Given the description of an element on the screen output the (x, y) to click on. 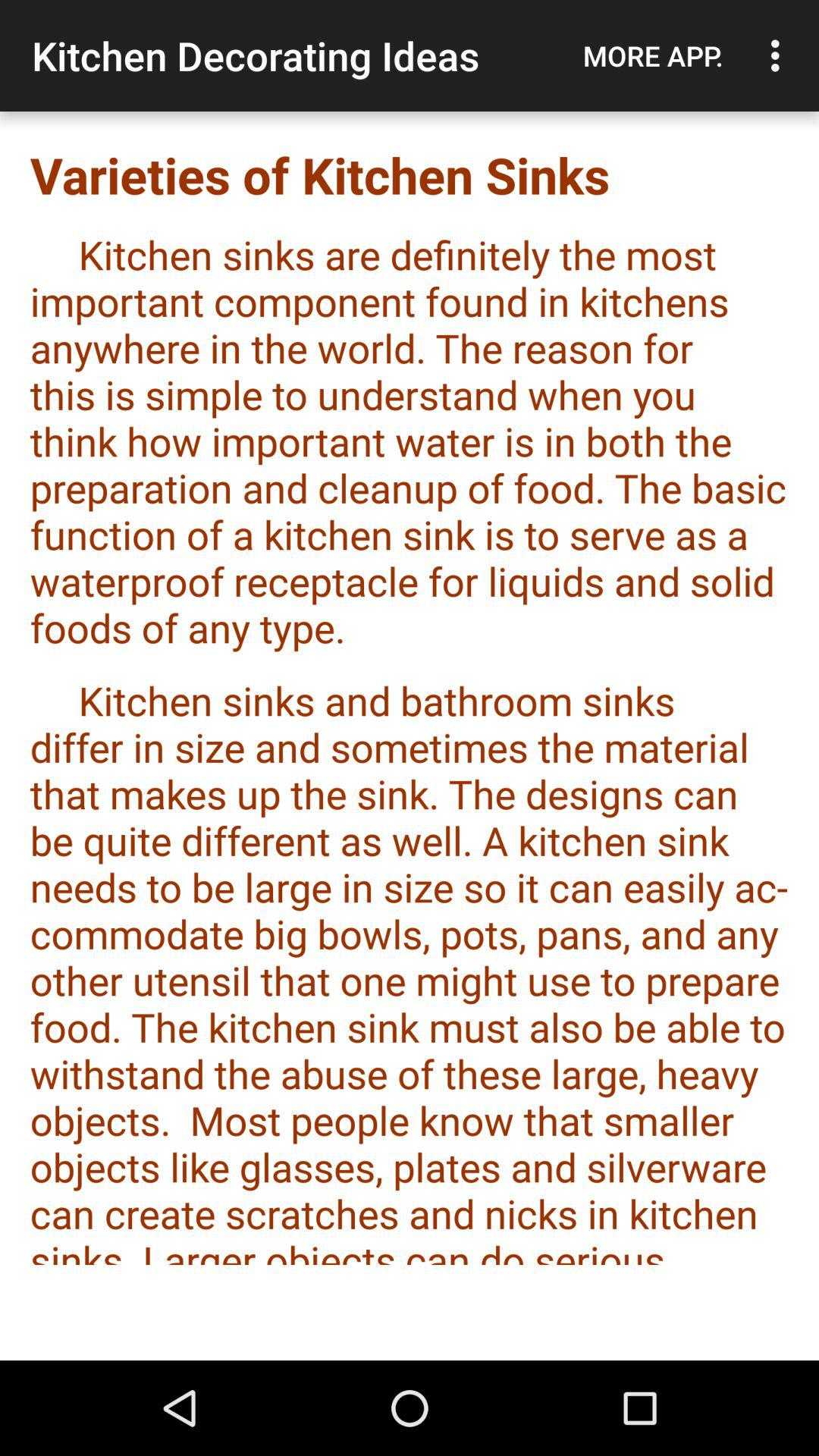
launch item to the right of the more app. (779, 55)
